Given the description of an element on the screen output the (x, y) to click on. 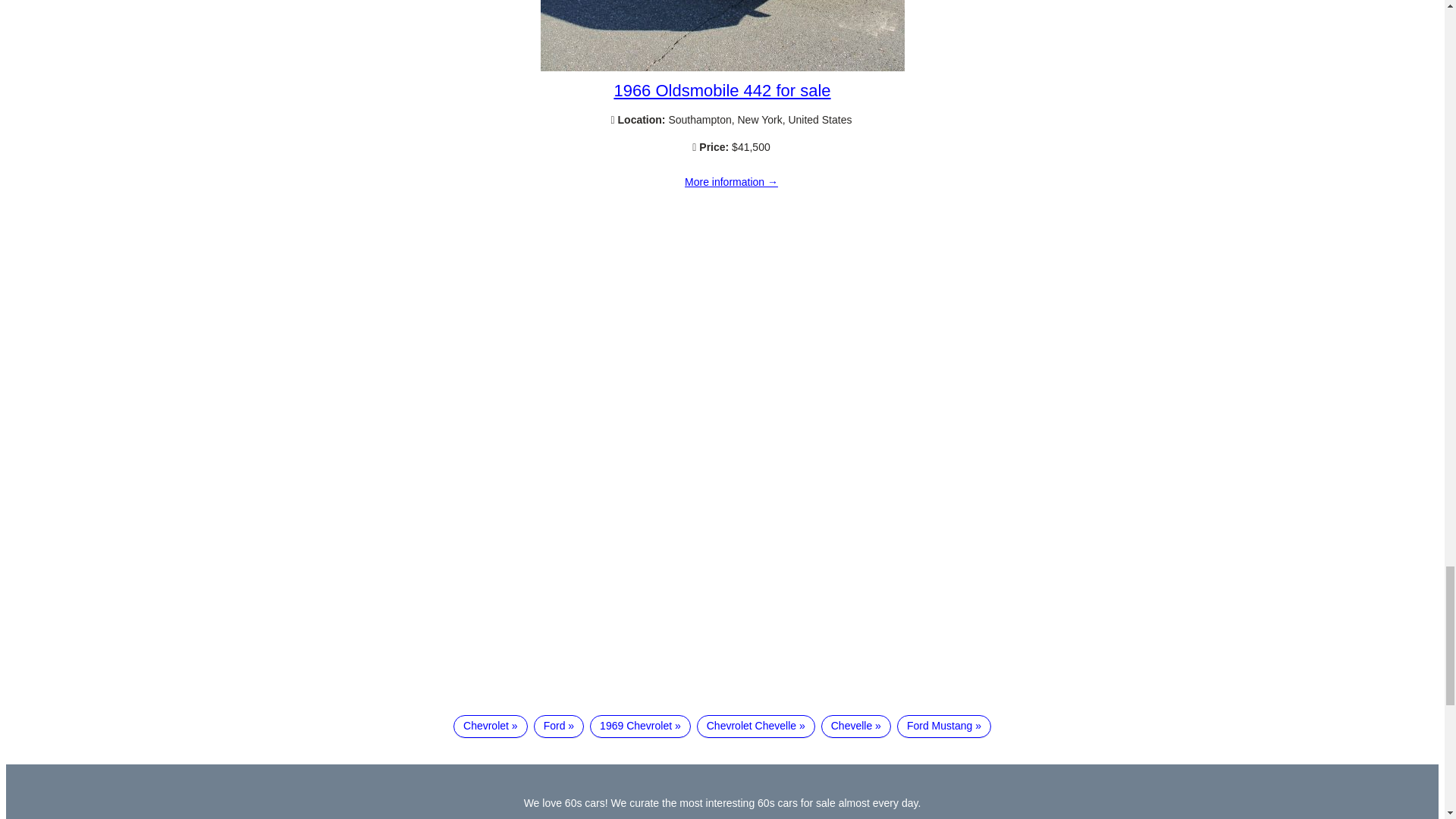
1966 Oldsmobile 442 for sale (722, 67)
1969 Chevrolet (639, 725)
Chevelle (856, 725)
Ford (558, 725)
1966 Oldsmobile 442 for sale (720, 90)
Chevrolet Chevelle (756, 725)
Chevrolet (489, 725)
1966 Oldsmobile 442 for sale (731, 182)
Ford Mustang (943, 725)
